Given the description of an element on the screen output the (x, y) to click on. 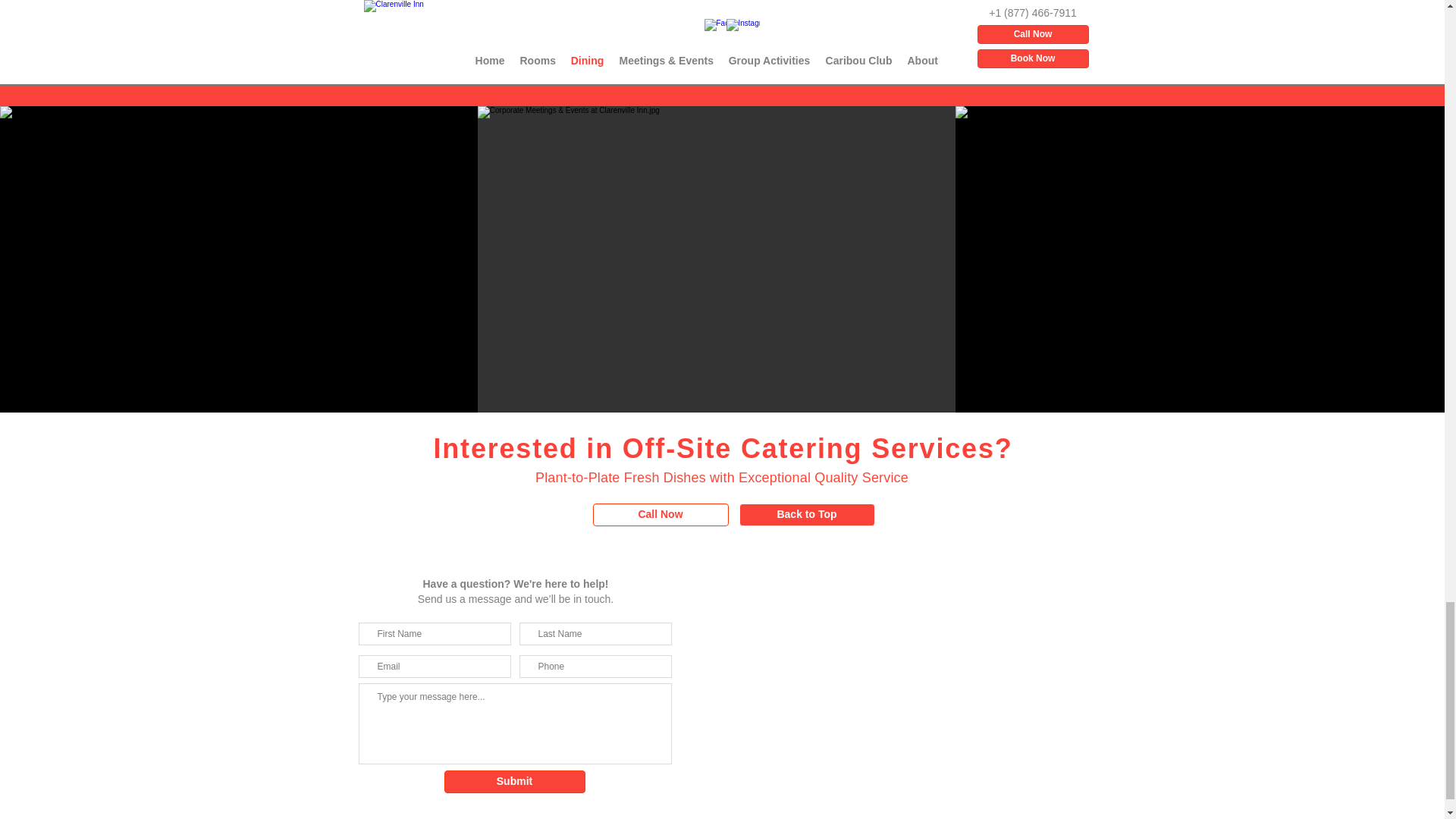
Full Menu (722, 67)
Back to Top (806, 514)
Submit (514, 781)
Call Now (660, 514)
